Given the description of an element on the screen output the (x, y) to click on. 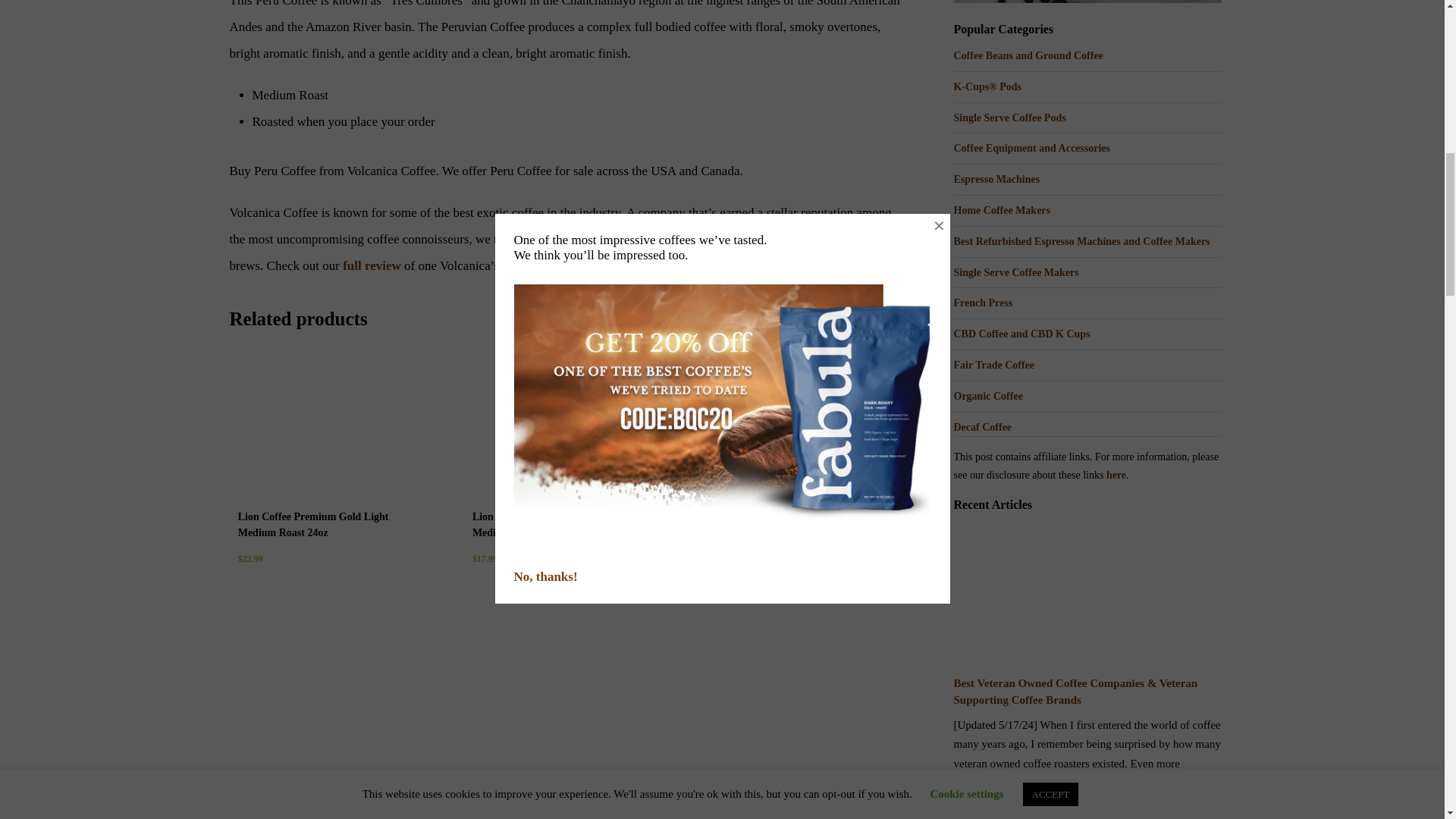
Big Island Roasters Coffee (1087, 1)
